Given the description of an element on the screen output the (x, y) to click on. 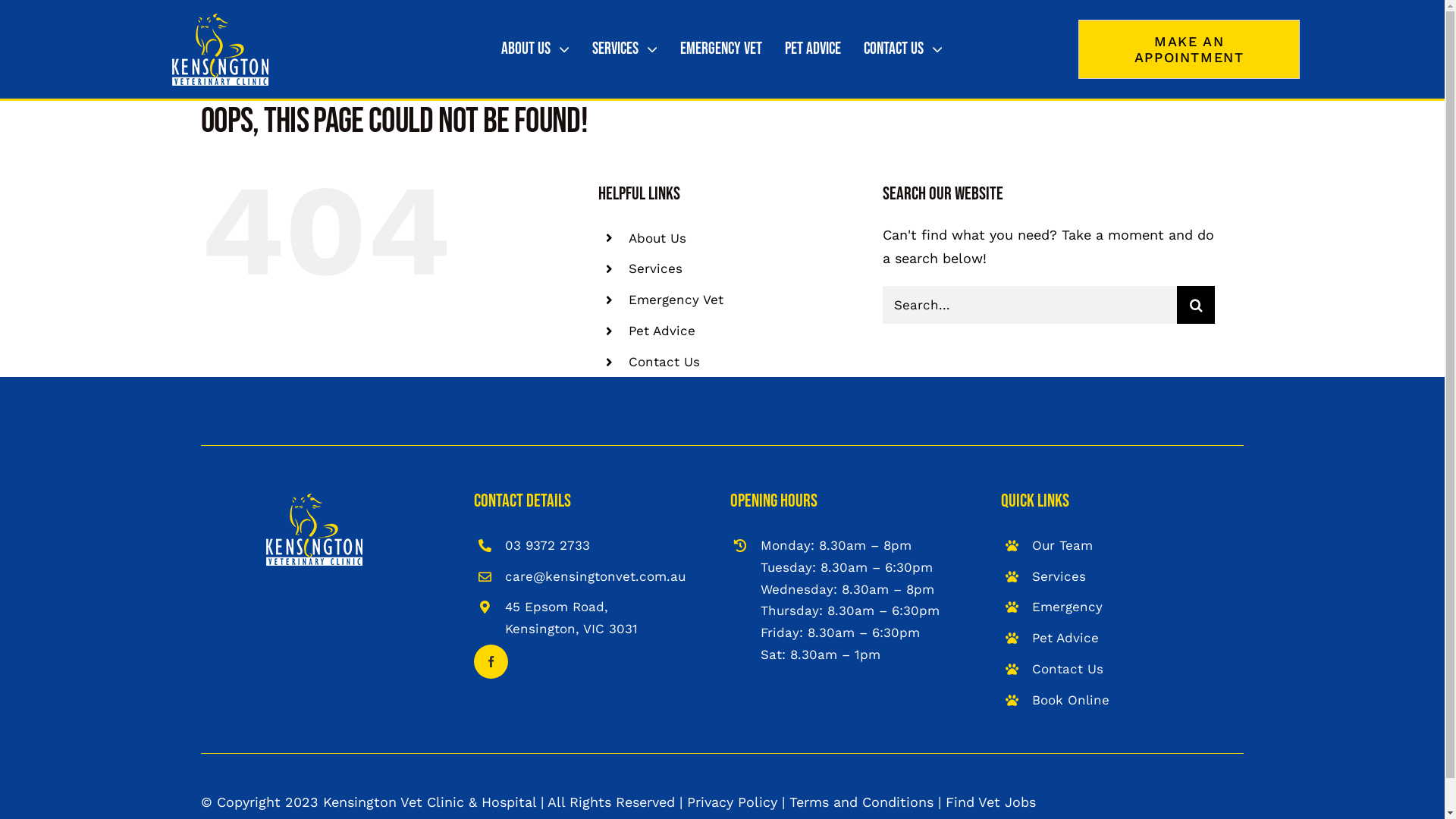
Book Online Element type: text (1070, 699)
EMERGENCY VET Element type: text (721, 48)
care@kensingtonvet.com.au Element type: text (595, 575)
Services Element type: text (655, 268)
Our Team Element type: text (1062, 544)
Terms and Conditions Element type: text (861, 801)
Services Element type: text (1058, 575)
Privacy Policy Element type: text (732, 801)
About Us Element type: text (657, 237)
Pet Advice Element type: text (661, 330)
Emergency Element type: text (1067, 606)
MAKE AN APPOINTMENT Element type: text (1189, 48)
Contact Us Element type: text (1067, 668)
CONTACT US Element type: text (902, 48)
Emergency Vet Element type: text (675, 299)
03 9372 2733 Element type: text (547, 544)
45 Epsom Road,
Kensington, VIC 3031 Element type: text (571, 617)
Contact Us Element type: text (663, 361)
Pet Advice Element type: text (1065, 637)
SERVICES Element type: text (624, 48)
PET ADVICE Element type: text (812, 48)
Find Vet Jobs Element type: text (990, 801)
ABOUT US Element type: text (535, 48)
